Given the description of an element on the screen output the (x, y) to click on. 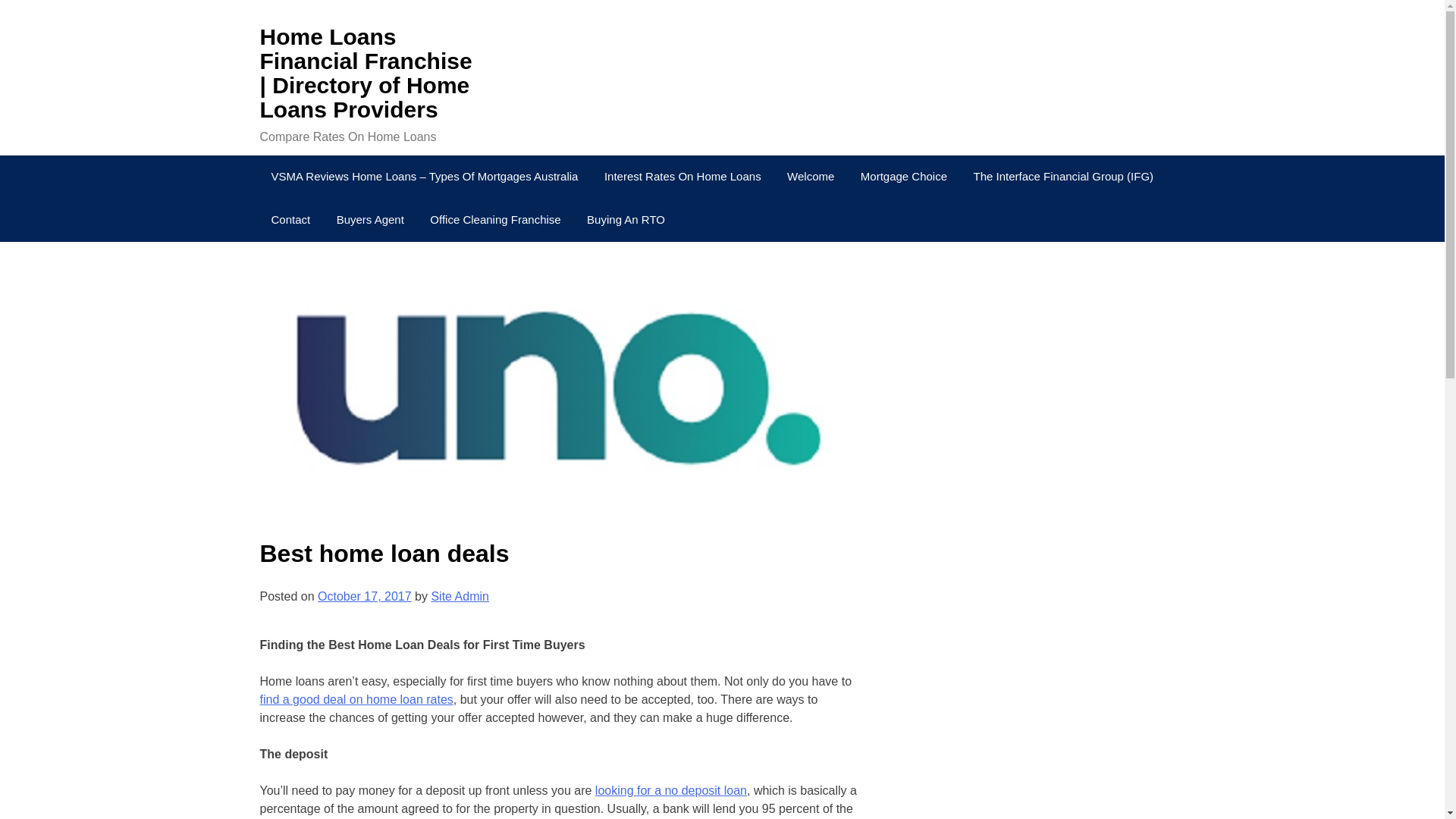
looking for a no deposit loan (670, 789)
Site Admin (458, 595)
Welcome (810, 177)
find a good deal on home loan rates (355, 698)
October 17, 2017 (364, 595)
Office Cleaning Franchise (495, 220)
Interest Rates On Home Loans (682, 177)
Mortgage Choice (903, 177)
Buying An RTO (626, 220)
Buyers Agent (369, 220)
Contact (290, 220)
